Given the description of an element on the screen output the (x, y) to click on. 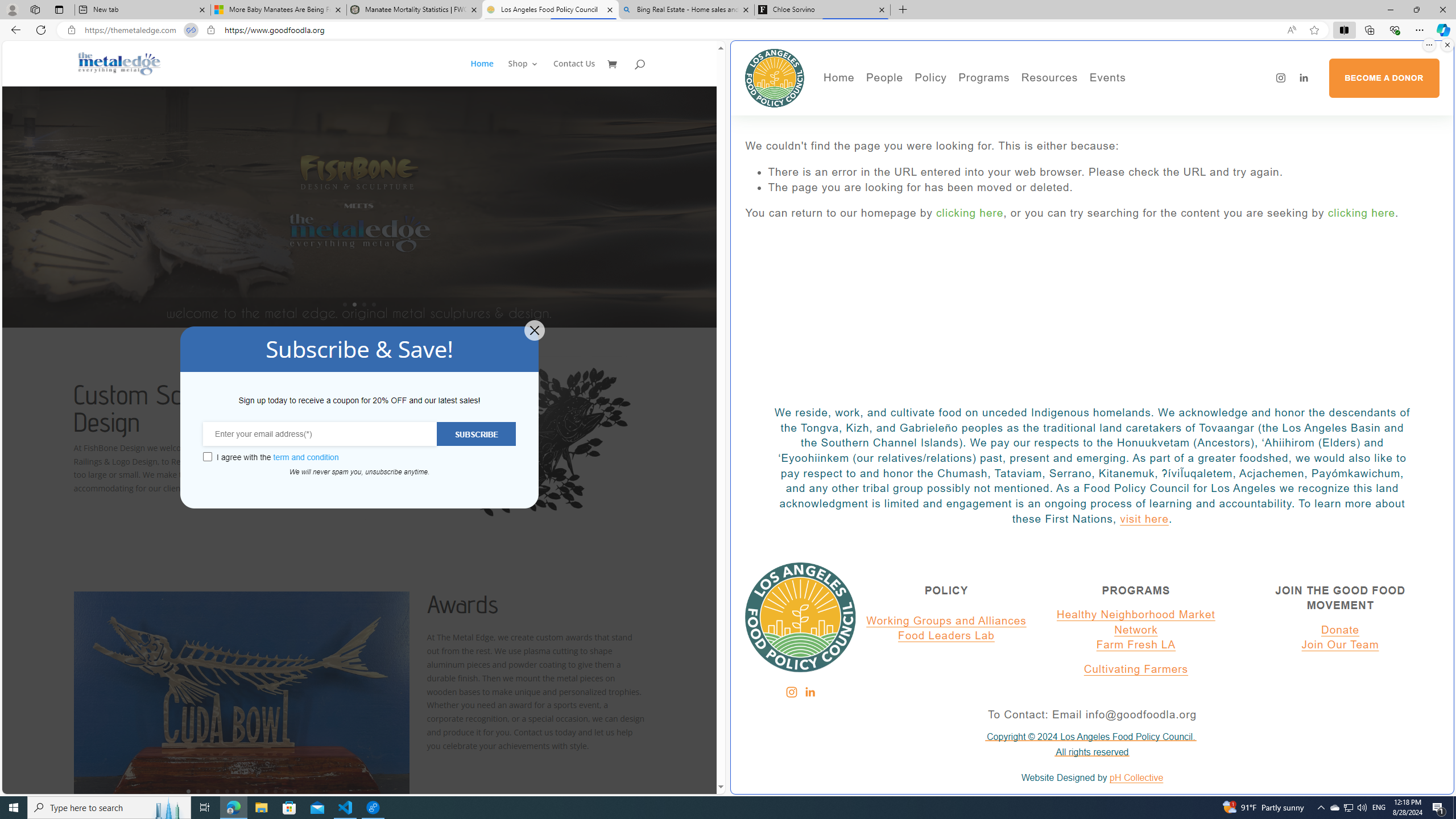
pH Collective (1136, 777)
Publications (994, 116)
Cultivating Farmers  (1135, 669)
Programs (984, 77)
7 (246, 790)
Metal Fish Sculptures & Metal Designs (119, 63)
Good Food Zones (1093, 99)
Class: sqs-svg-icon--social (809, 692)
Reports (922, 165)
visit here (1144, 519)
